Given the description of an element on the screen output the (x, y) to click on. 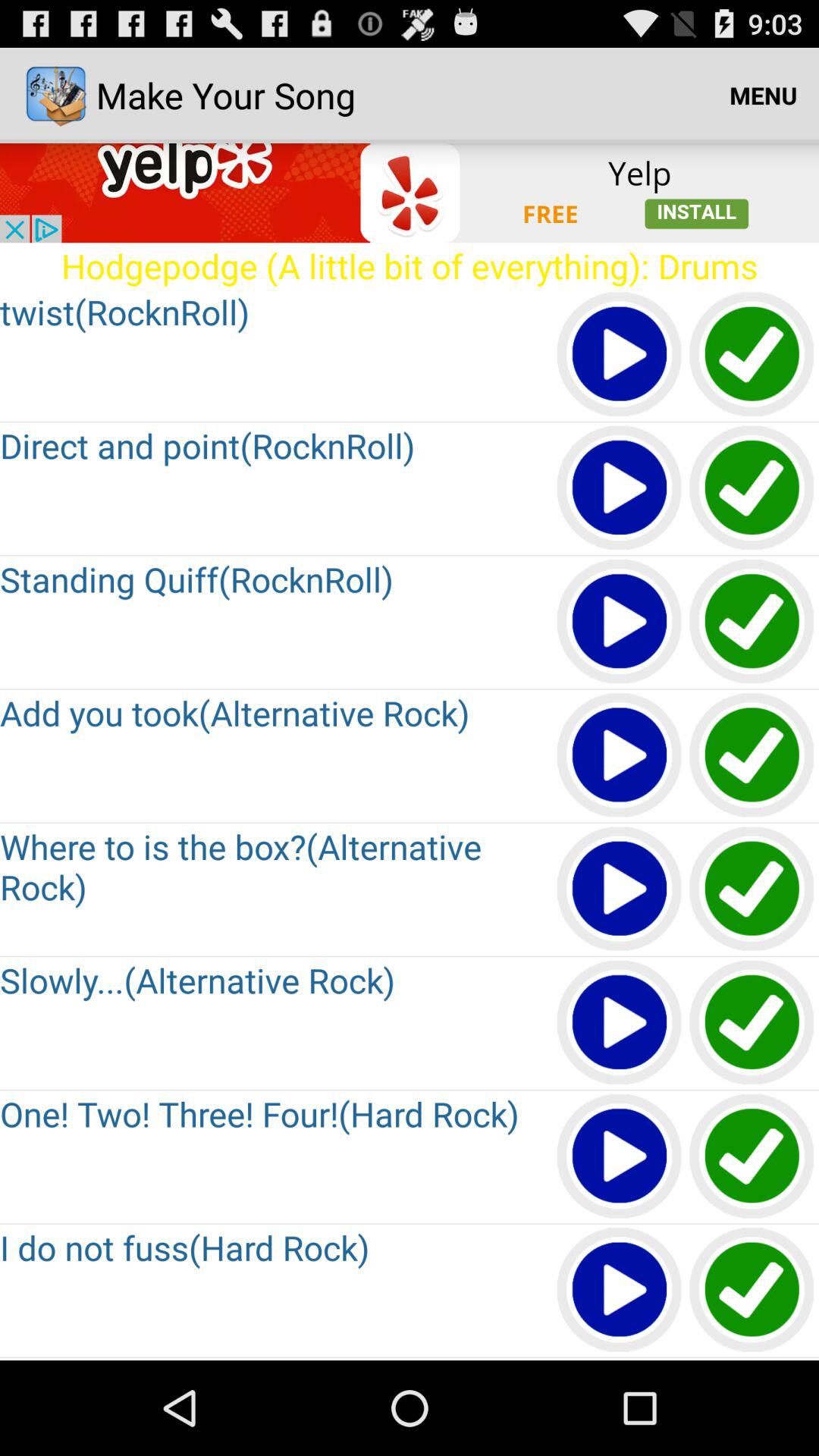
play the option (619, 1023)
